Given the description of an element on the screen output the (x, y) to click on. 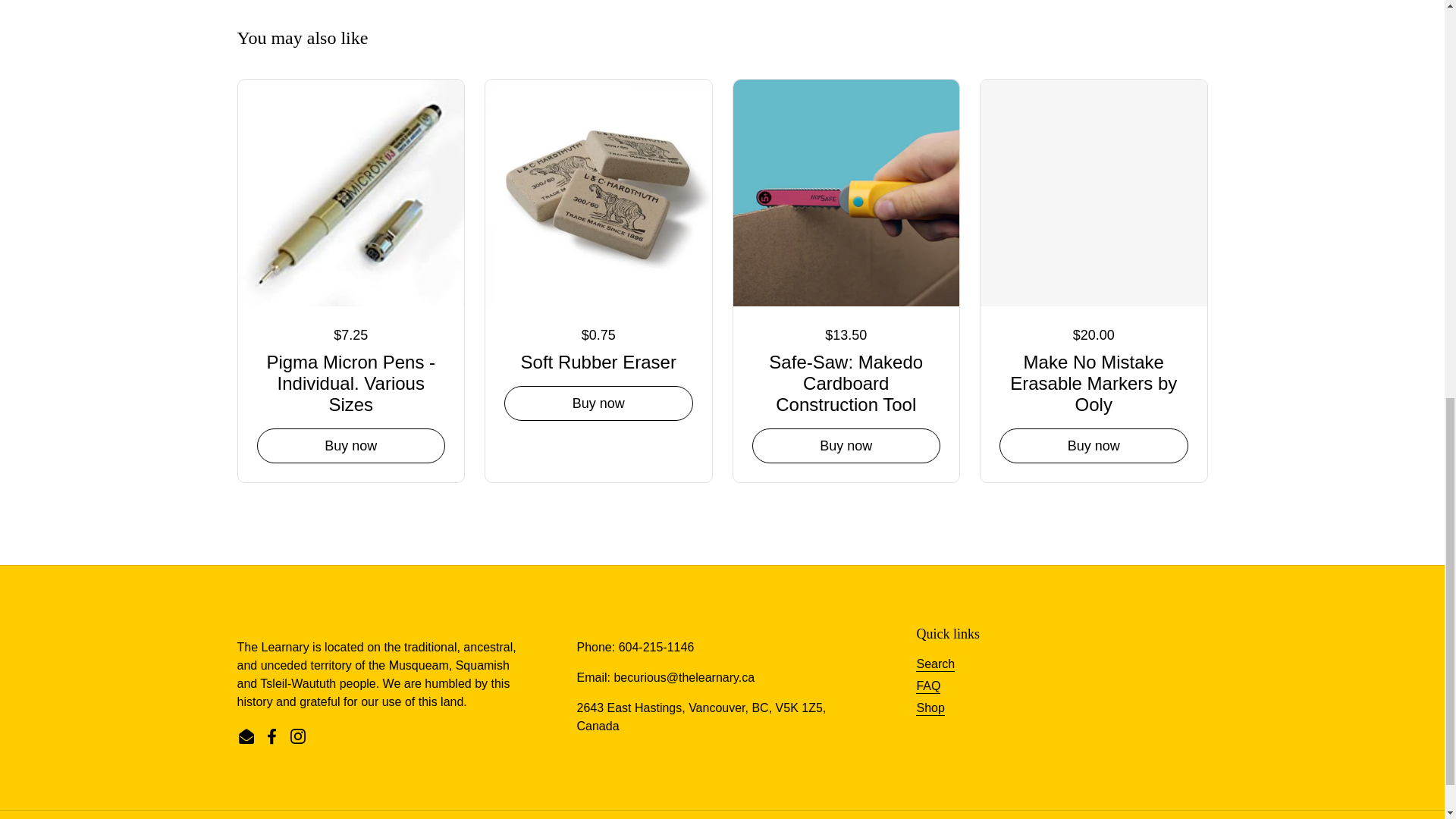
Make No Mistake Erasable Markers by Ooly (1093, 380)
Pigma Micron Pens - Individual. Various Sizes (350, 380)
Safe-Saw: Makedo Cardboard Construction Tool (846, 380)
Soft Rubber Eraser (599, 359)
